Given the description of an element on the screen output the (x, y) to click on. 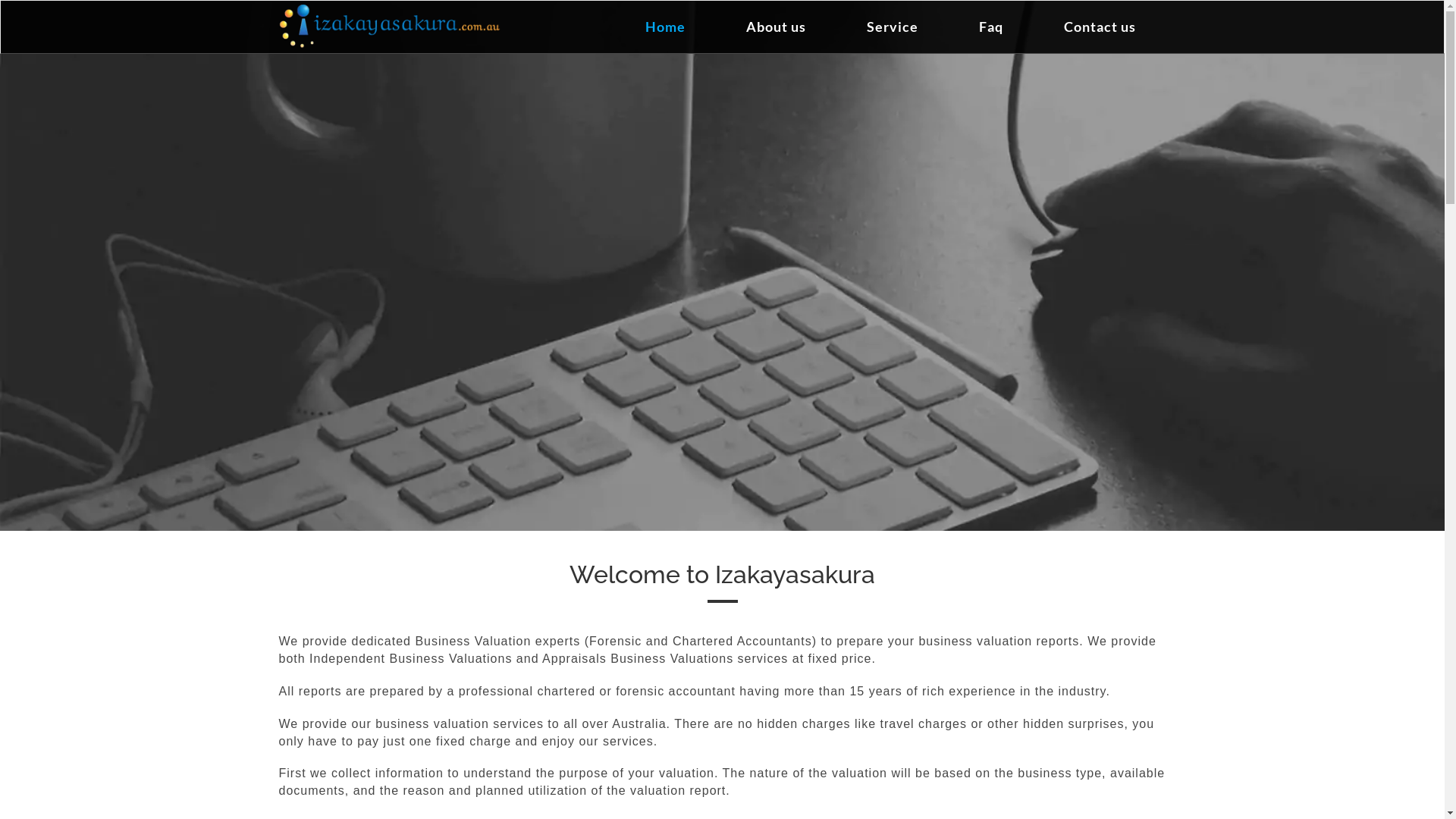
Contact us Element type: text (1098, 26)
Home Element type: text (664, 26)
Faq Element type: text (989, 26)
Service Element type: text (891, 26)
About us Element type: text (775, 26)
